Given the description of an element on the screen output the (x, y) to click on. 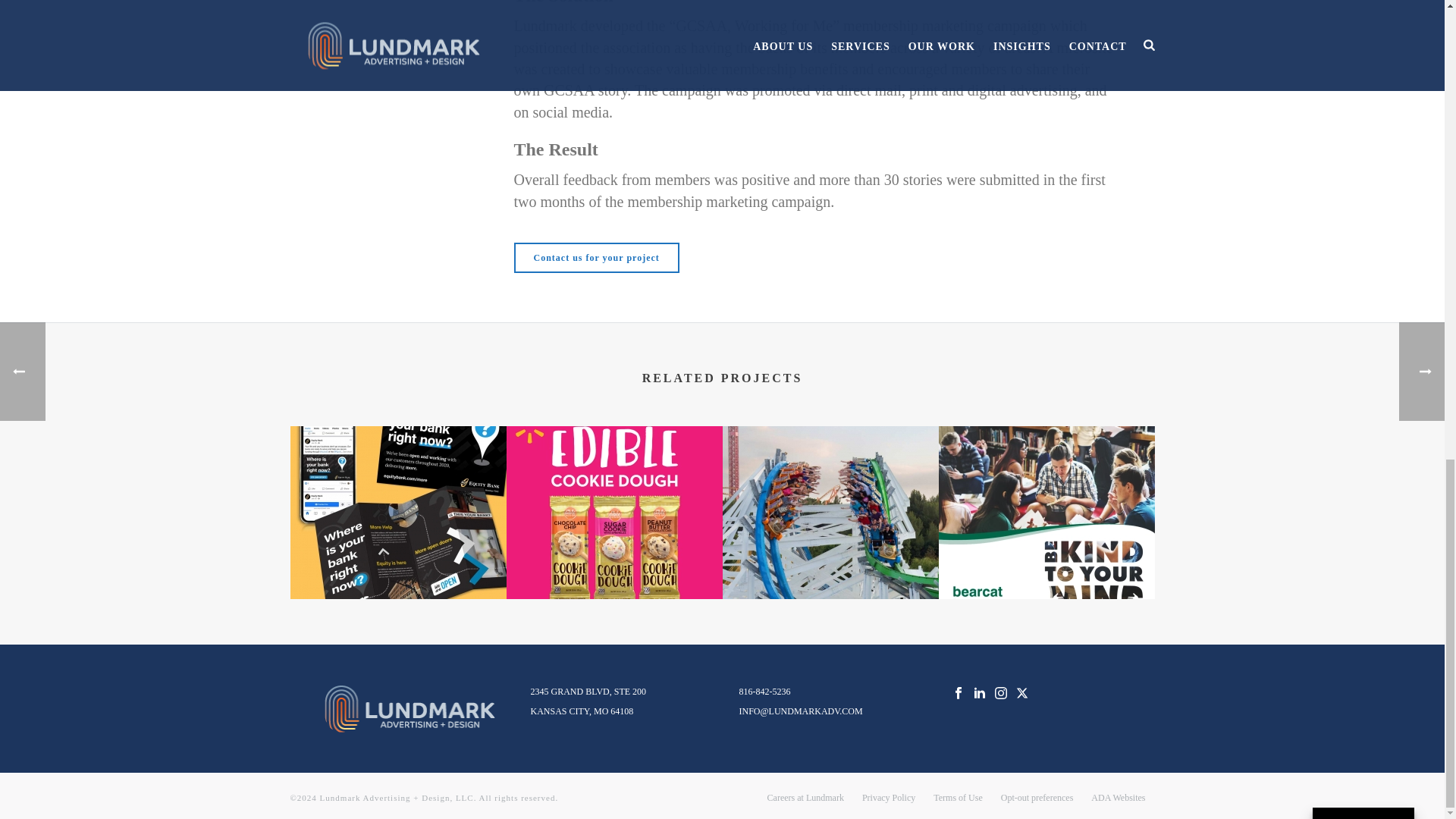
Follow Us on facebook (957, 694)
Visit Santa Clarita (829, 511)
Contact us for your project (596, 257)
Equity Bank (397, 511)
Northwest Missouri State University (1046, 511)
Contact us for your project (596, 257)
Follow Us on linkedin (979, 694)
Follow Us on instagram (1000, 694)
Dible Dough (614, 511)
